Given the description of an element on the screen output the (x, y) to click on. 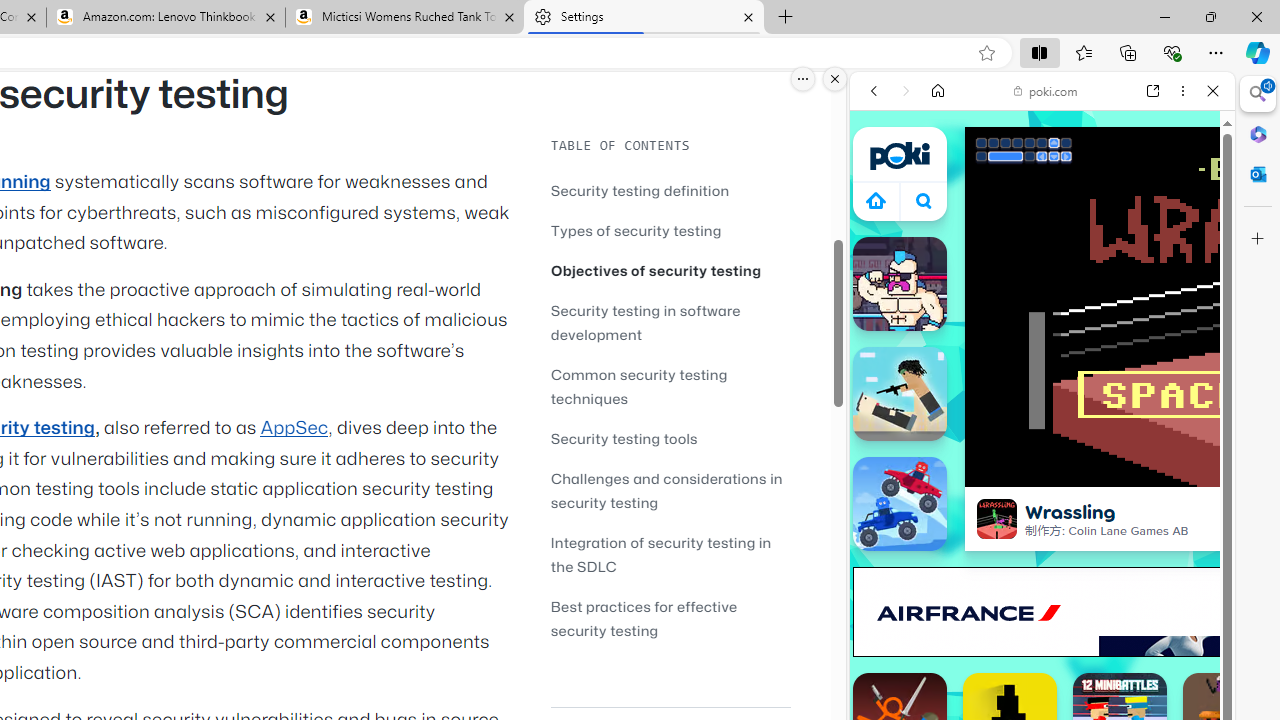
Types of security testing (670, 230)
Security testing definition (670, 190)
Security testing definition (639, 190)
Car Games (1042, 469)
Class: hvLtMSipvVng82x9Seuh (997, 519)
Security testing in software development (670, 322)
Class: B_5ykBA46kDOxiz_R9wm (923, 200)
Show More Io Games (1164, 619)
Show More Car Games (1164, 472)
